Given the description of an element on the screen output the (x, y) to click on. 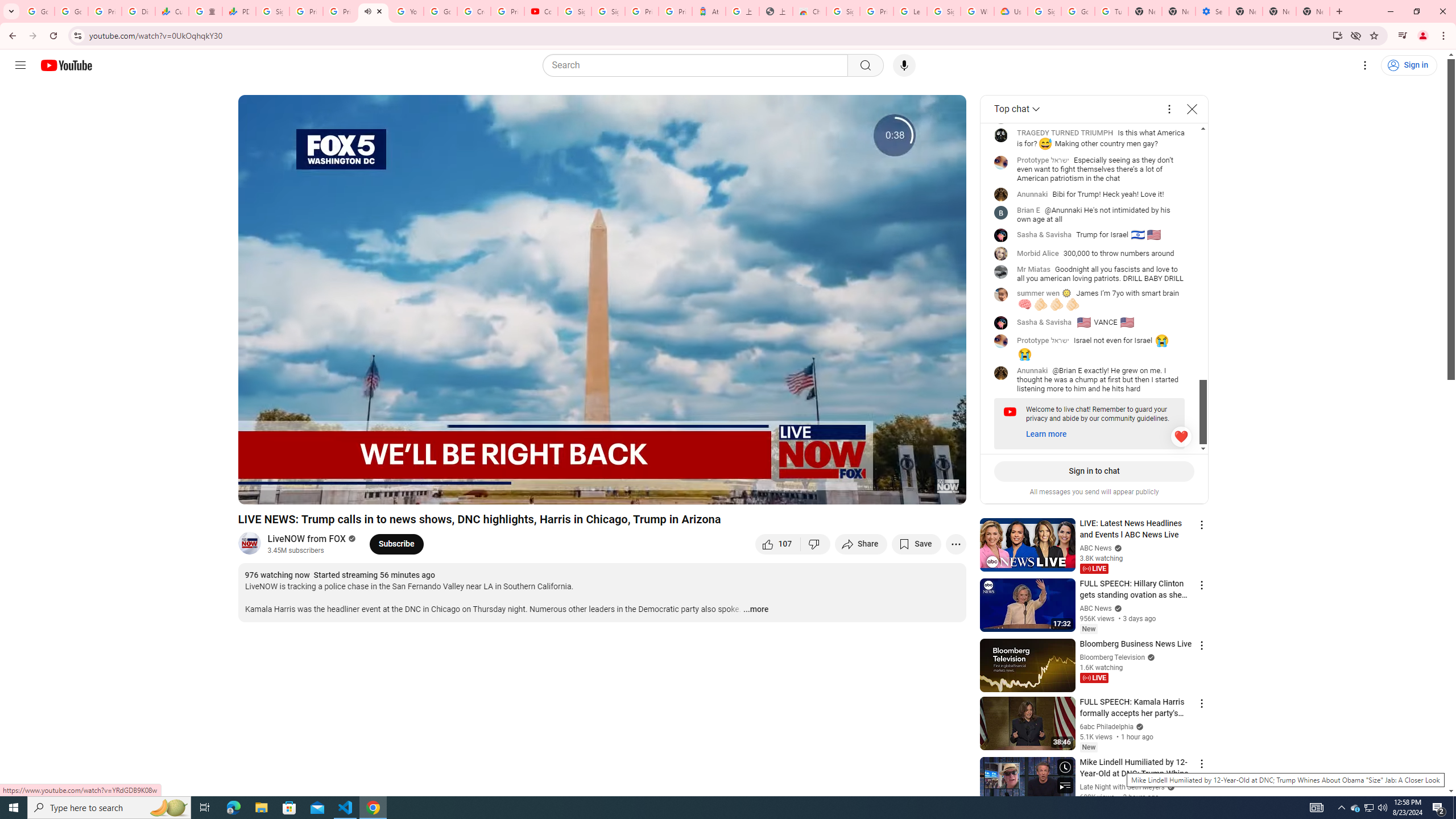
Chrome Web Store (809, 11)
Full screen (f) (945, 490)
Dislike this video (815, 543)
LiveNOW from FOX (306, 538)
Guide (20, 65)
More options (1168, 108)
Action menu (1200, 763)
New (1087, 747)
